Given the description of an element on the screen output the (x, y) to click on. 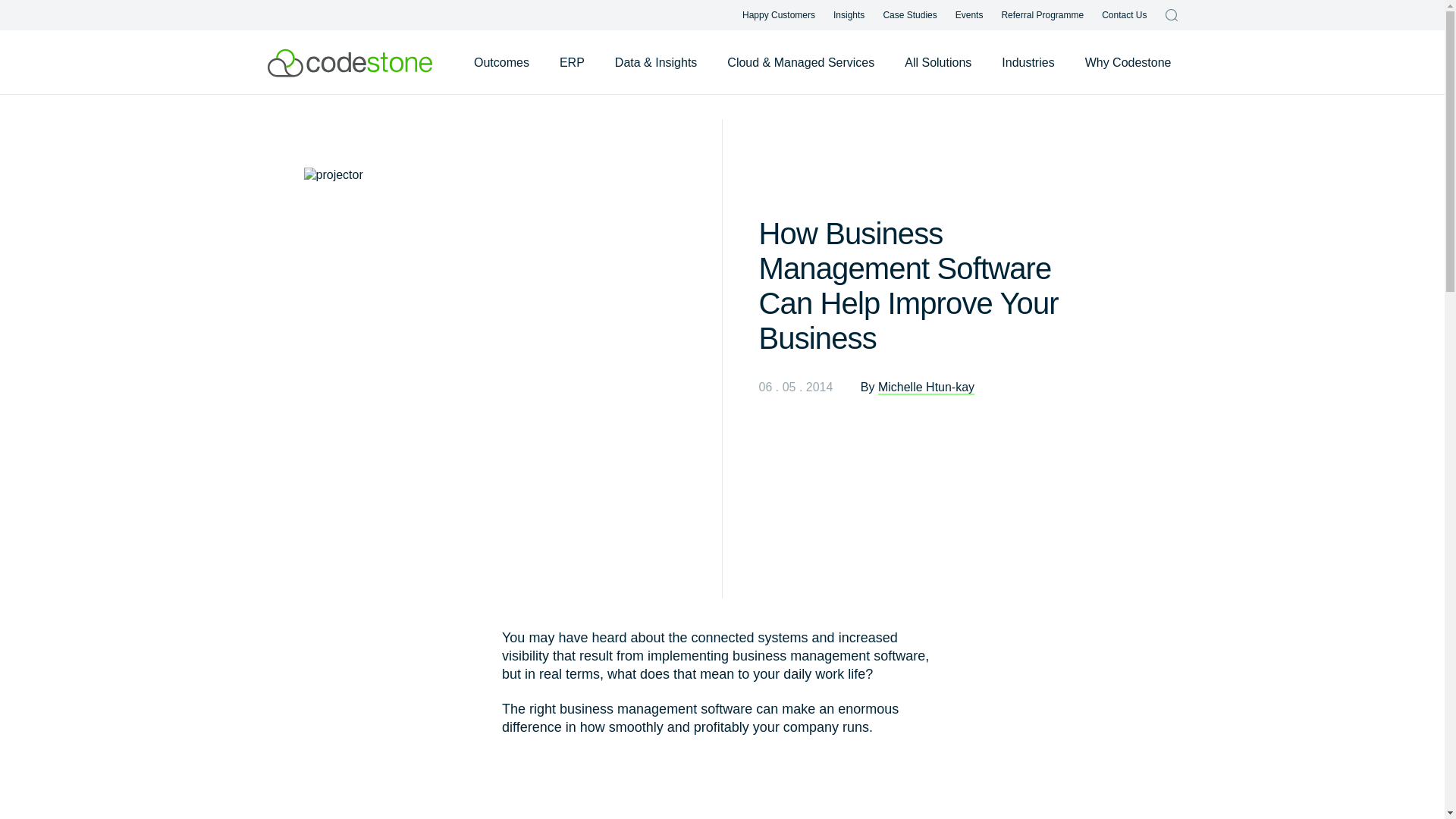
Contact Us (1124, 14)
Outcomes (501, 62)
Case Studies (909, 14)
Happy Customers (778, 14)
Referral Programme (1042, 14)
Events (969, 14)
Insights (848, 14)
